Given the description of an element on the screen output the (x, y) to click on. 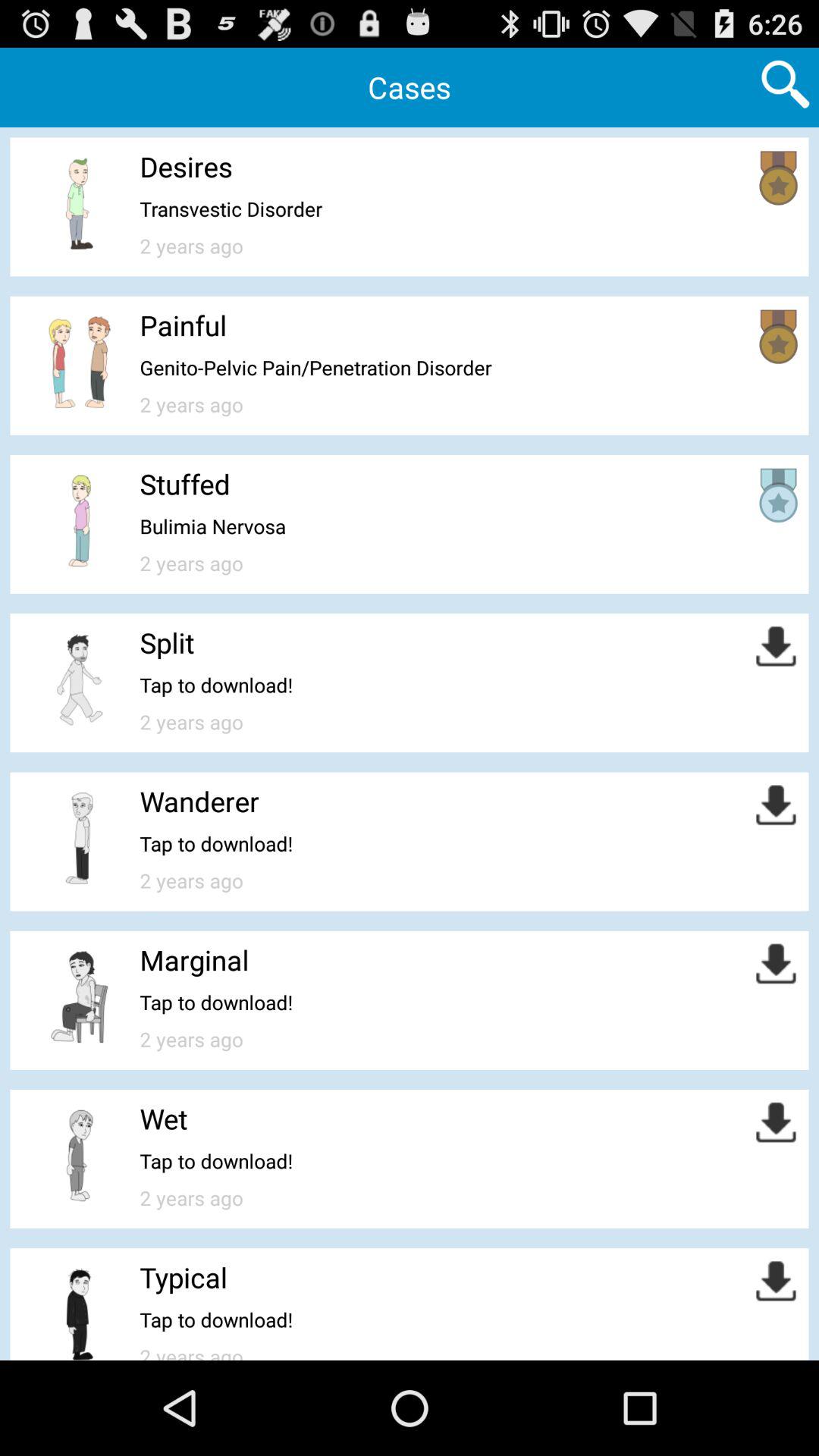
swipe to the wet item (163, 1118)
